Given the description of an element on the screen output the (x, y) to click on. 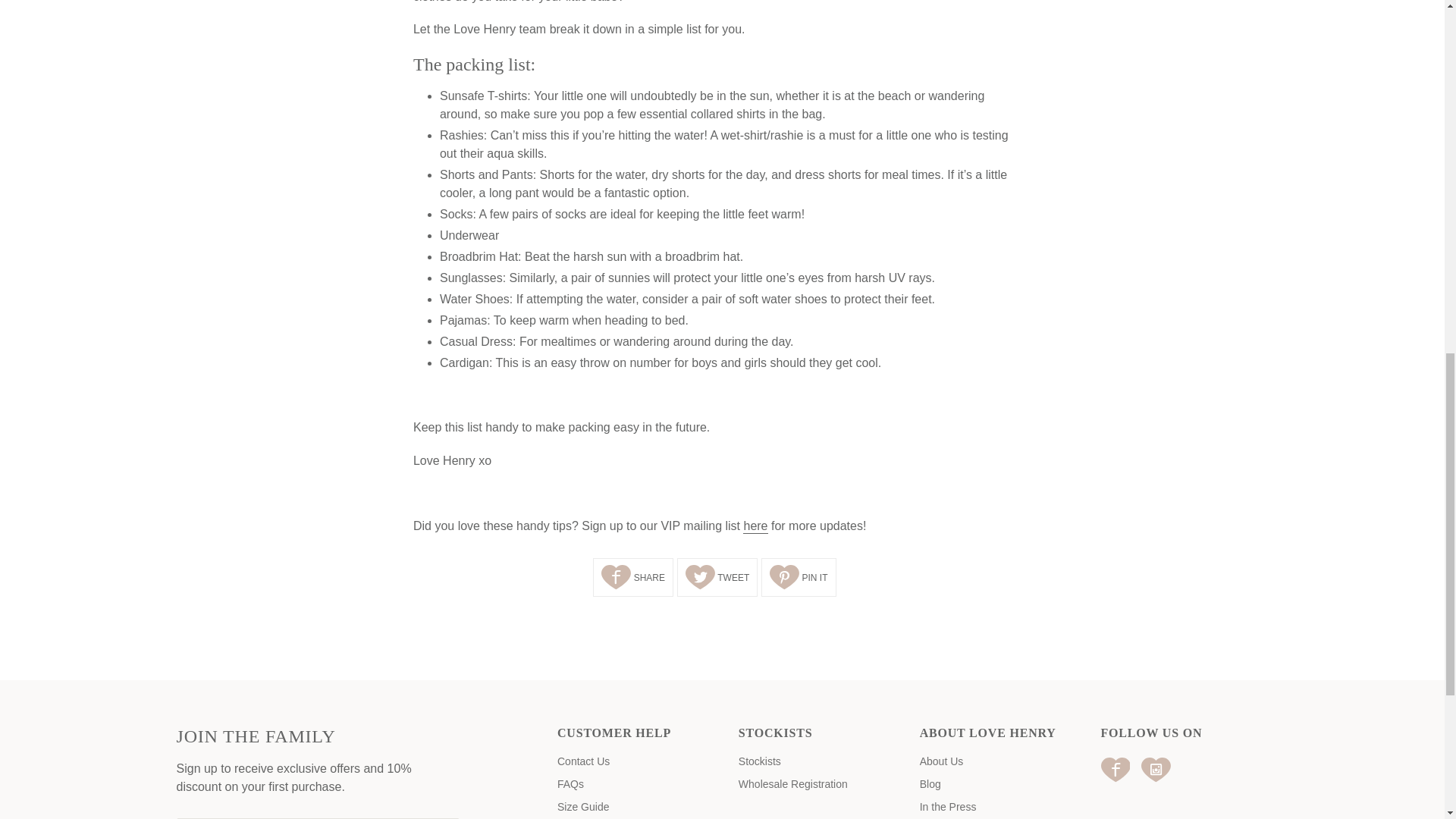
Love Henry homepage (754, 526)
